Given the description of an element on the screen output the (x, y) to click on. 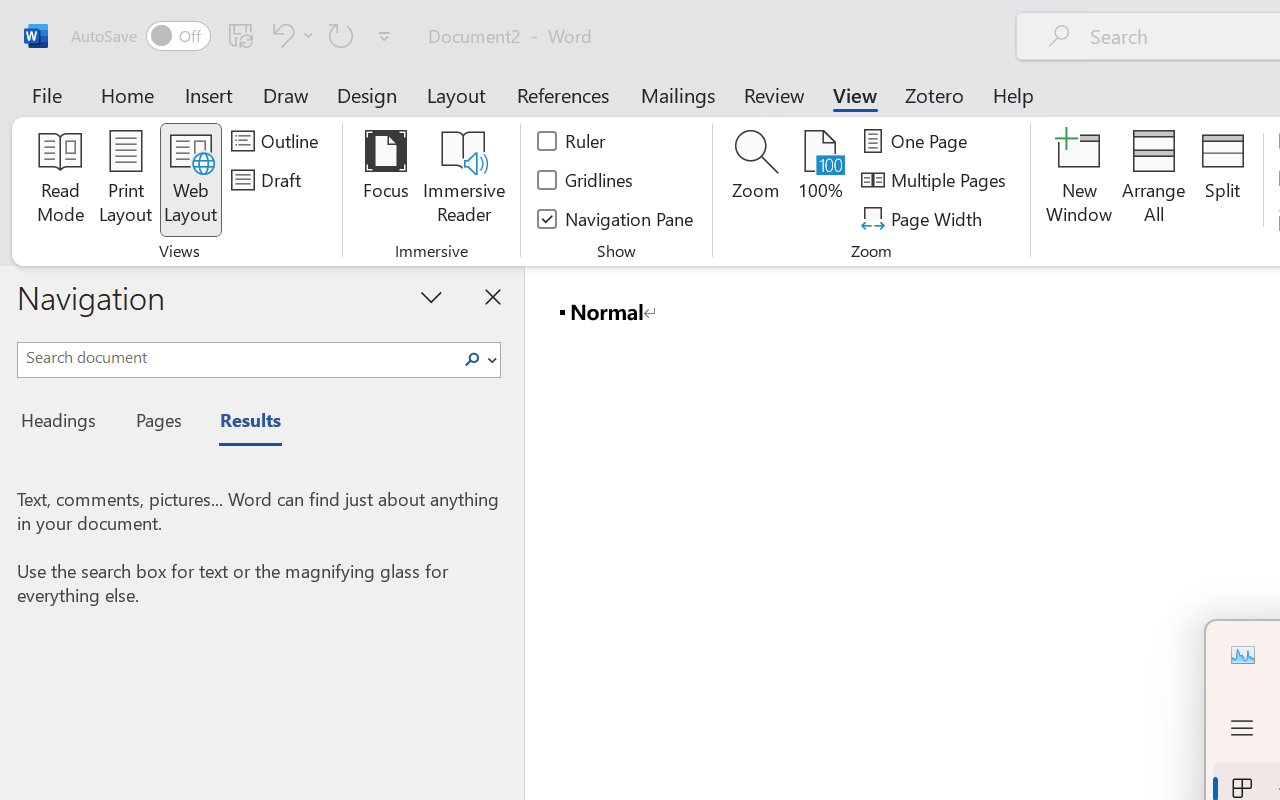
Task Pane Options (431, 296)
Review (774, 94)
Undo <ApplyStyleToDoc>b__0 (280, 35)
Gridlines (586, 179)
Undo <ApplyStyleToDoc>b__0 (290, 35)
Quick Access Toolbar (233, 36)
Headings (64, 423)
Outline (278, 141)
Multiple Pages (936, 179)
Zotero (933, 94)
Design (367, 94)
